Given the description of an element on the screen output the (x, y) to click on. 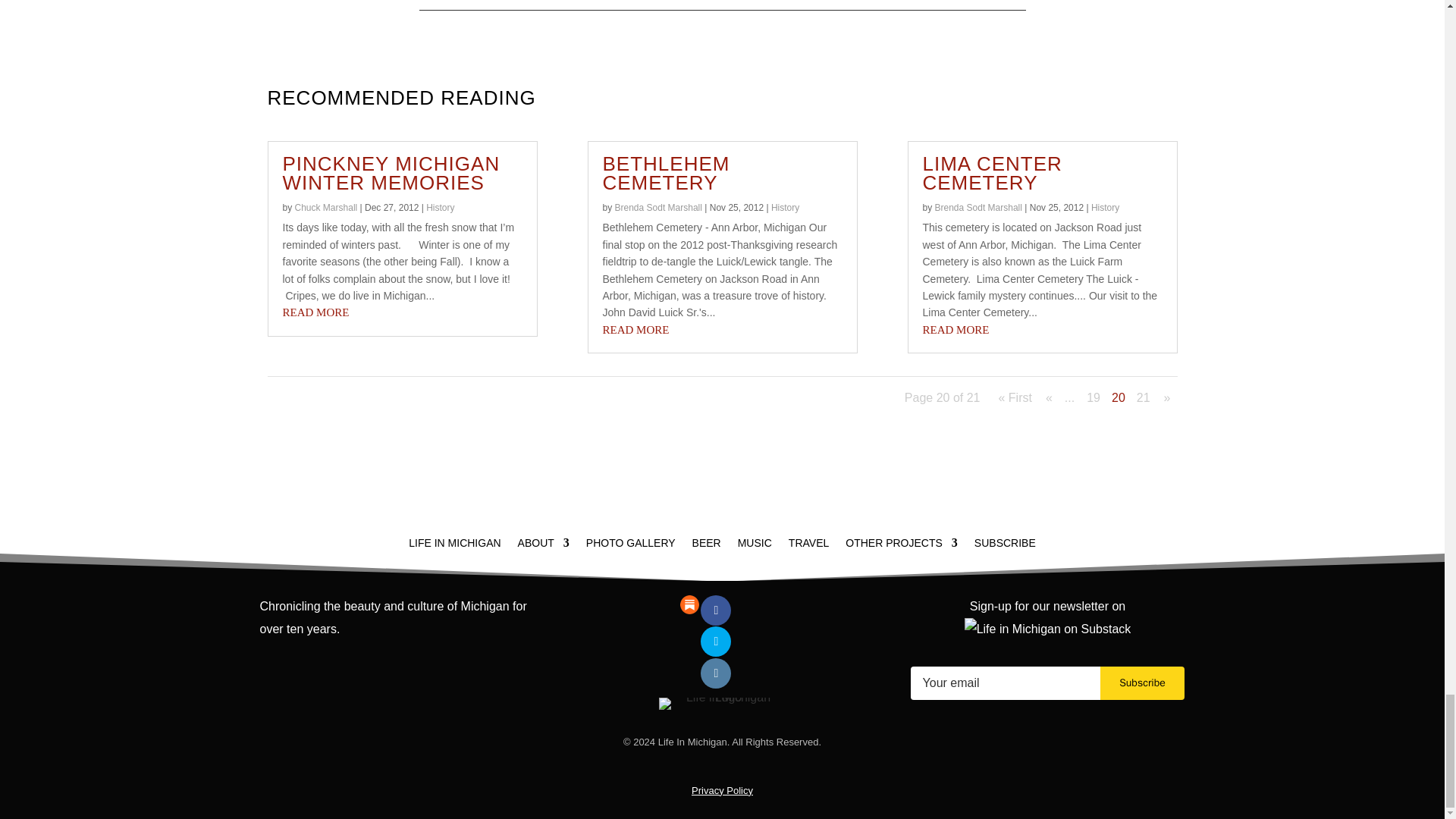
Posts by Chuck Marshall (326, 207)
Page 19 (1093, 397)
Life-In-MI 2024 logo (721, 703)
Posts by Brenda Sodt Marshall (657, 207)
Posts by Brenda Sodt Marshall (978, 207)
Page 21 (1143, 397)
